Given the description of an element on the screen output the (x, y) to click on. 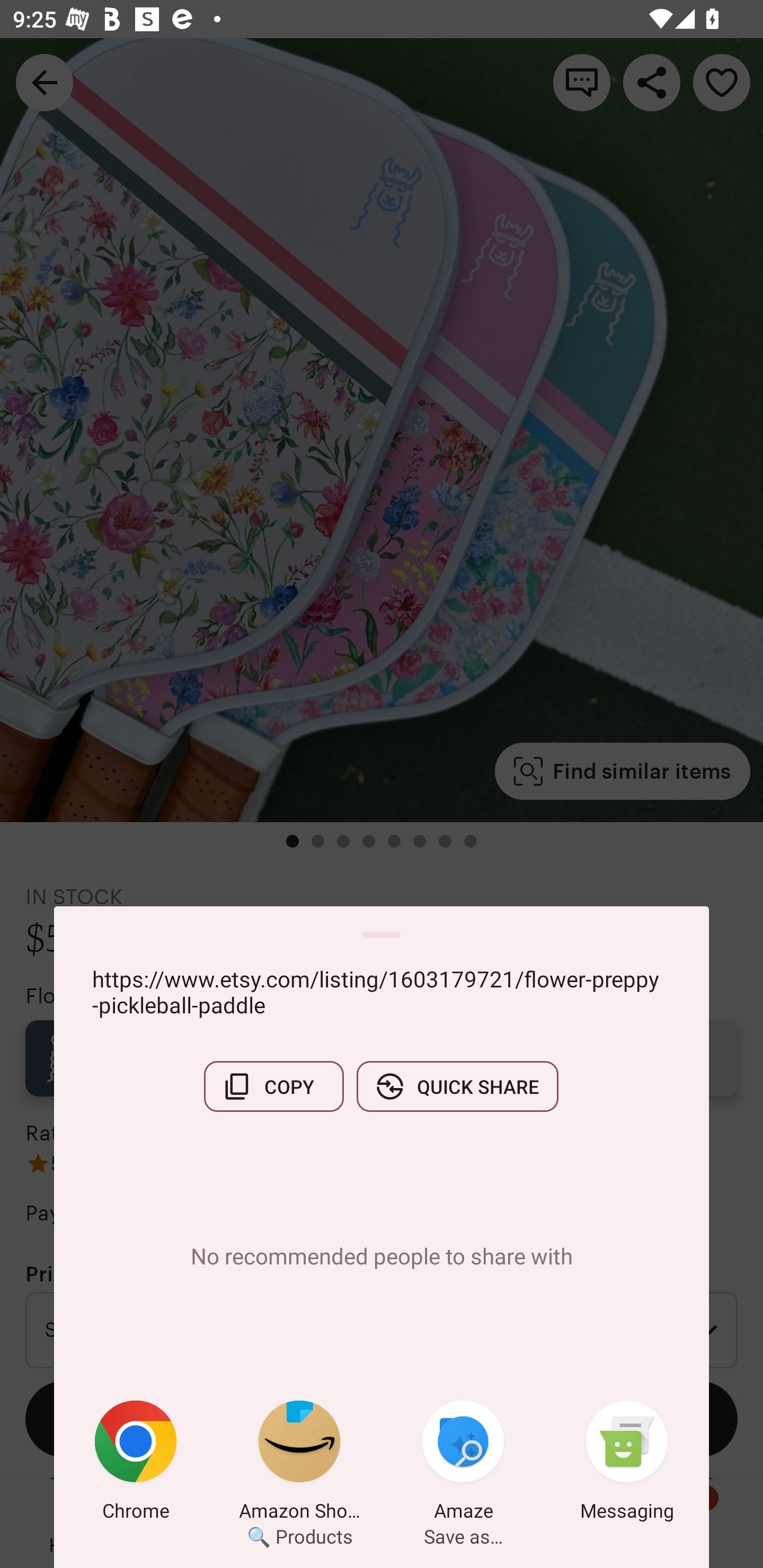
COPY (273, 1086)
QUICK SHARE (457, 1086)
Chrome (135, 1463)
Amazon Shopping 🔍 Products (299, 1463)
Amaze Save as… (463, 1463)
Messaging (626, 1463)
